Given the description of an element on the screen output the (x, y) to click on. 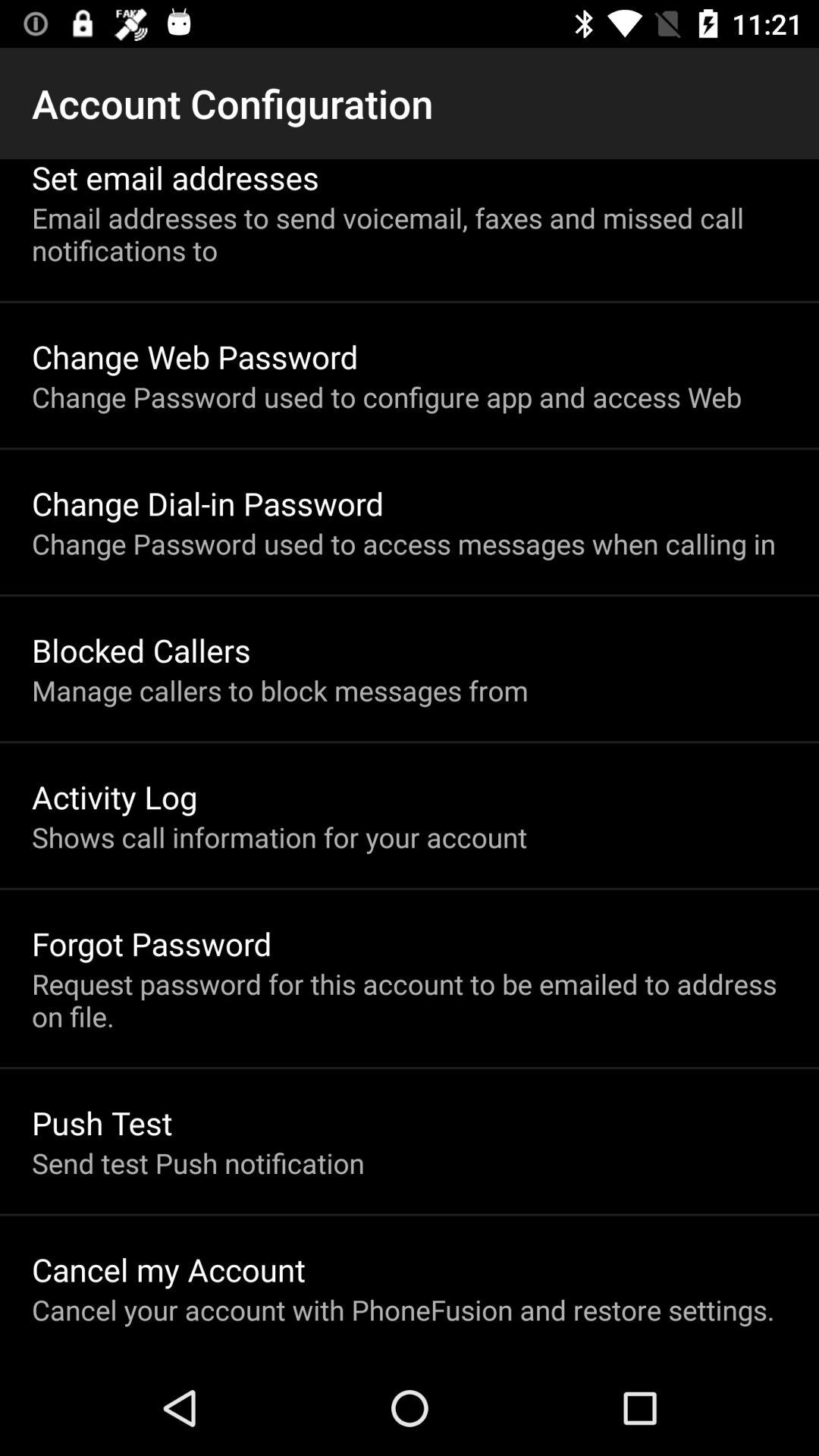
press manage callers to (279, 690)
